Given the description of an element on the screen output the (x, y) to click on. 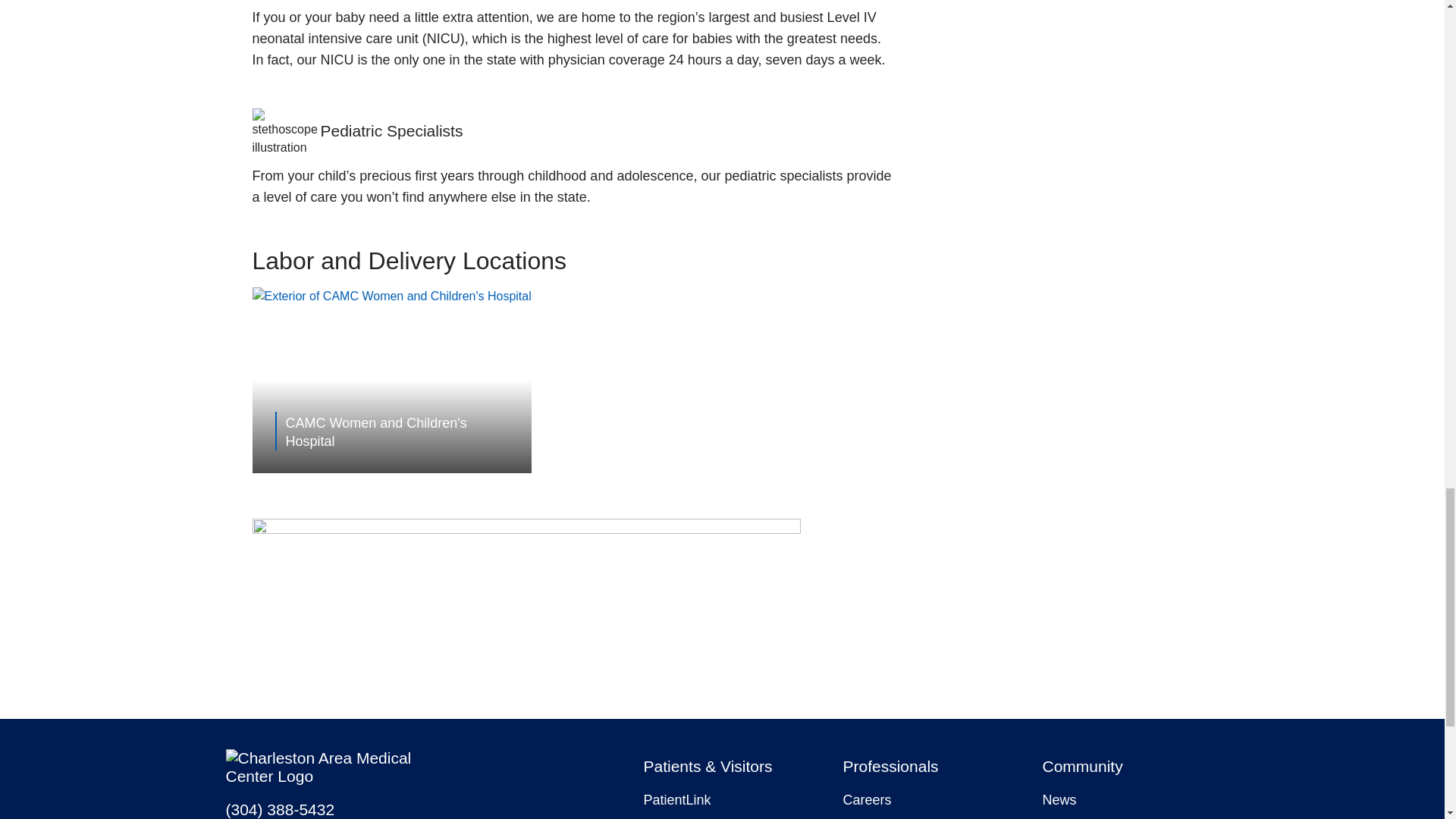
Blue Distinction Specialty Care (525, 529)
CAMC Women and Children's Hospital (403, 430)
